Given the description of an element on the screen output the (x, y) to click on. 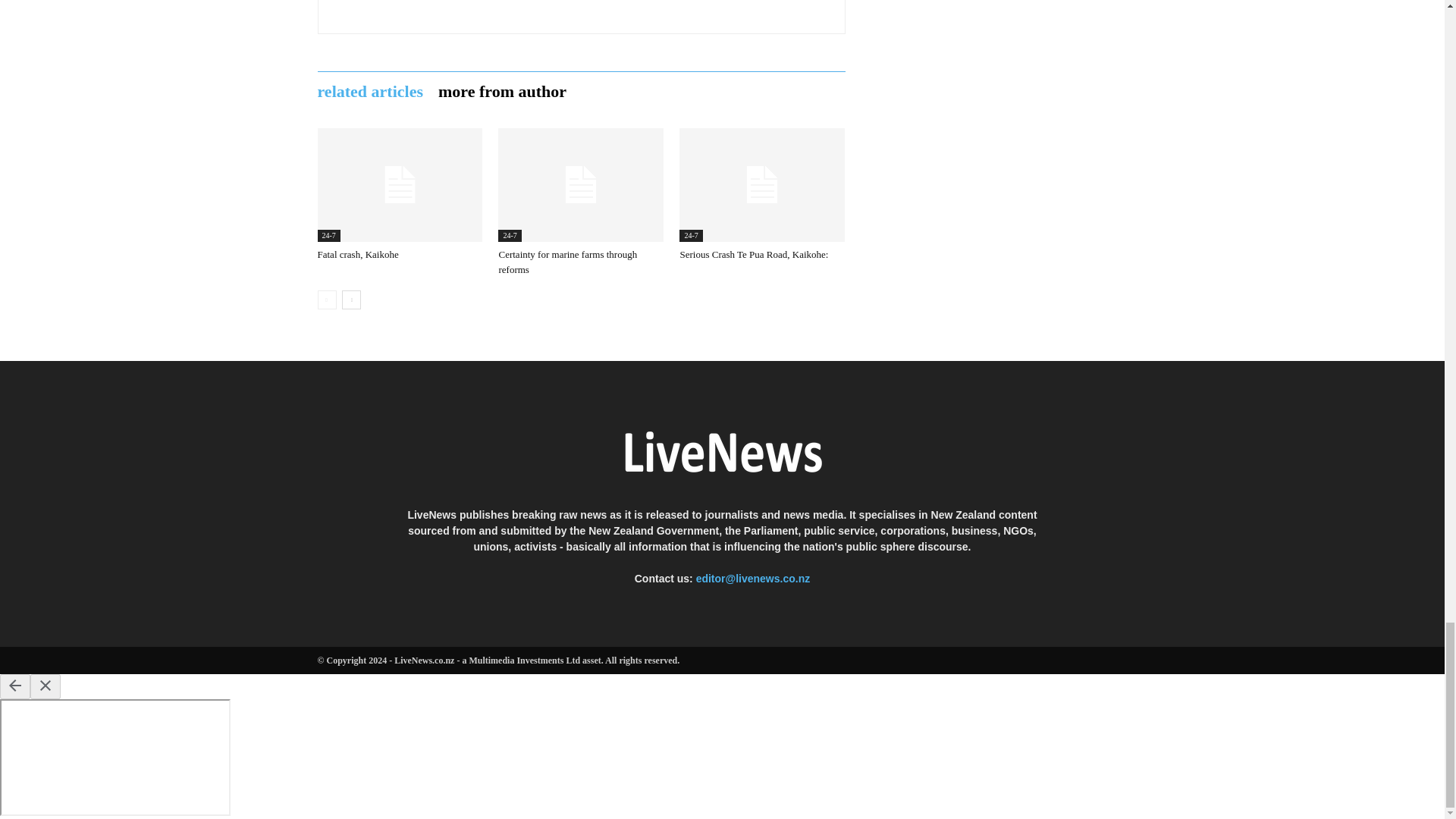
Certainty for marine farms through reforms (580, 184)
Fatal crash, Kaikohe (399, 184)
Certainty for marine farms through reforms (567, 261)
Serious Crash Te Pua Road, Kaikohe: (753, 254)
Fatal crash, Kaikohe (357, 254)
Serious Crash Te Pua Road, Kaikohe: (761, 184)
